Given the description of an element on the screen output the (x, y) to click on. 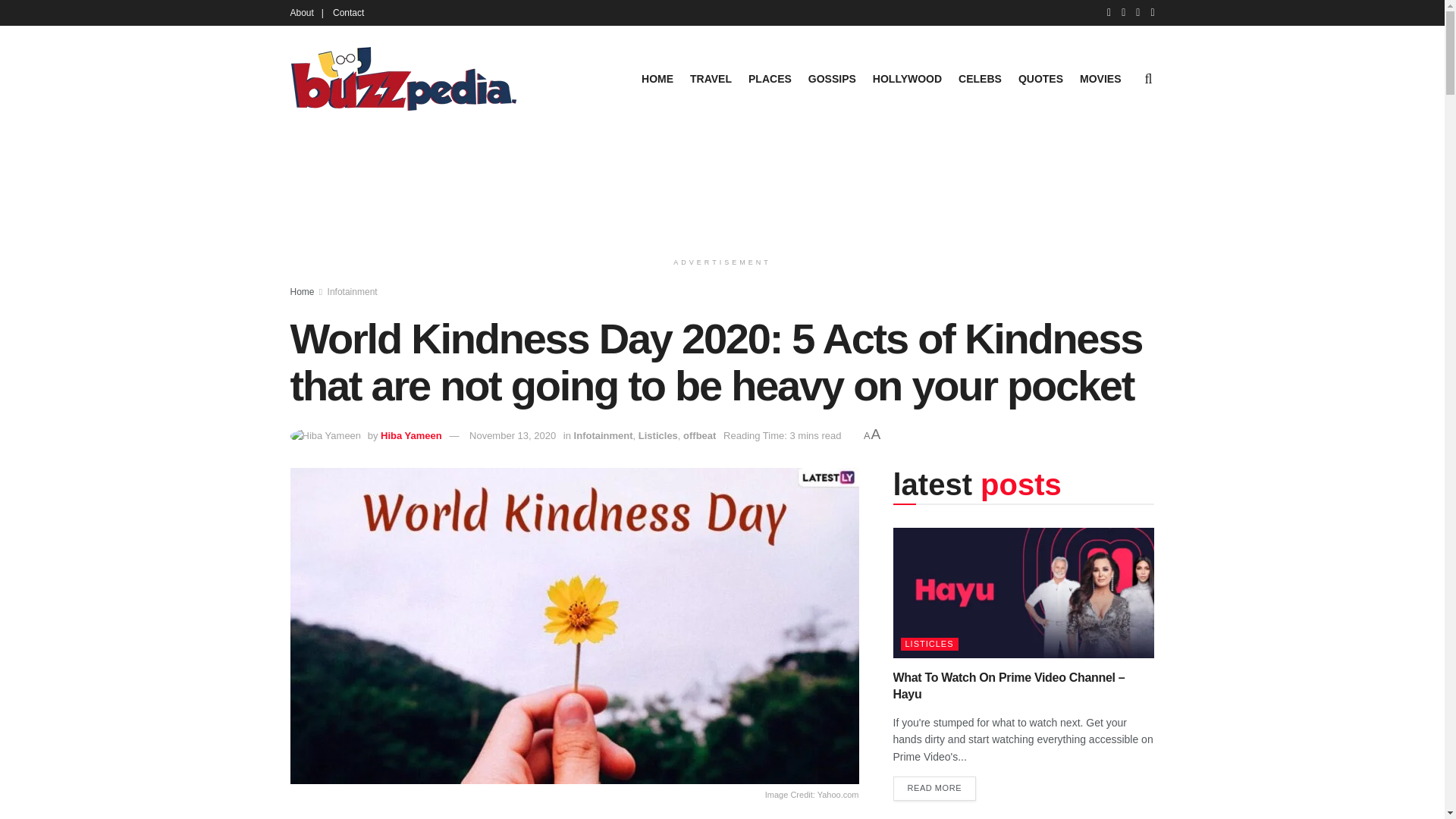
November 13, 2020 (512, 435)
Listicles (658, 435)
QUOTES (1039, 78)
Infotainment (352, 291)
Hiba Yameen (411, 435)
TRAVEL (711, 78)
Advertisement (722, 188)
Contact (348, 12)
offbeat (699, 435)
HOLLYWOOD (907, 78)
